Given the description of an element on the screen output the (x, y) to click on. 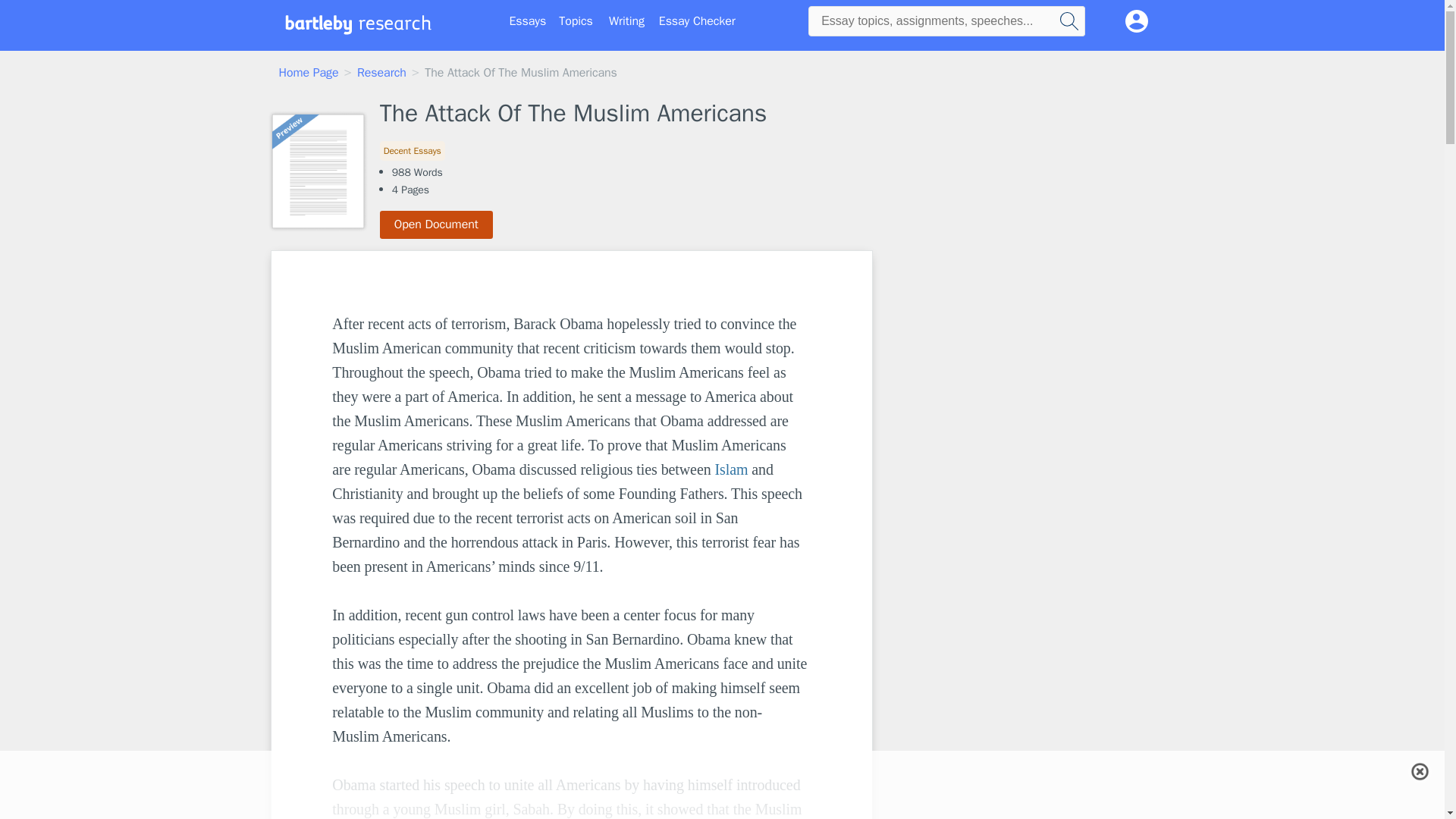
3rd party ad content (721, 769)
Topics (575, 20)
Home Page (309, 72)
Open Document (436, 224)
Writing (626, 20)
Islam (731, 469)
Research (381, 72)
Essay Checker (697, 20)
Essays (528, 20)
